Given the description of an element on the screen output the (x, y) to click on. 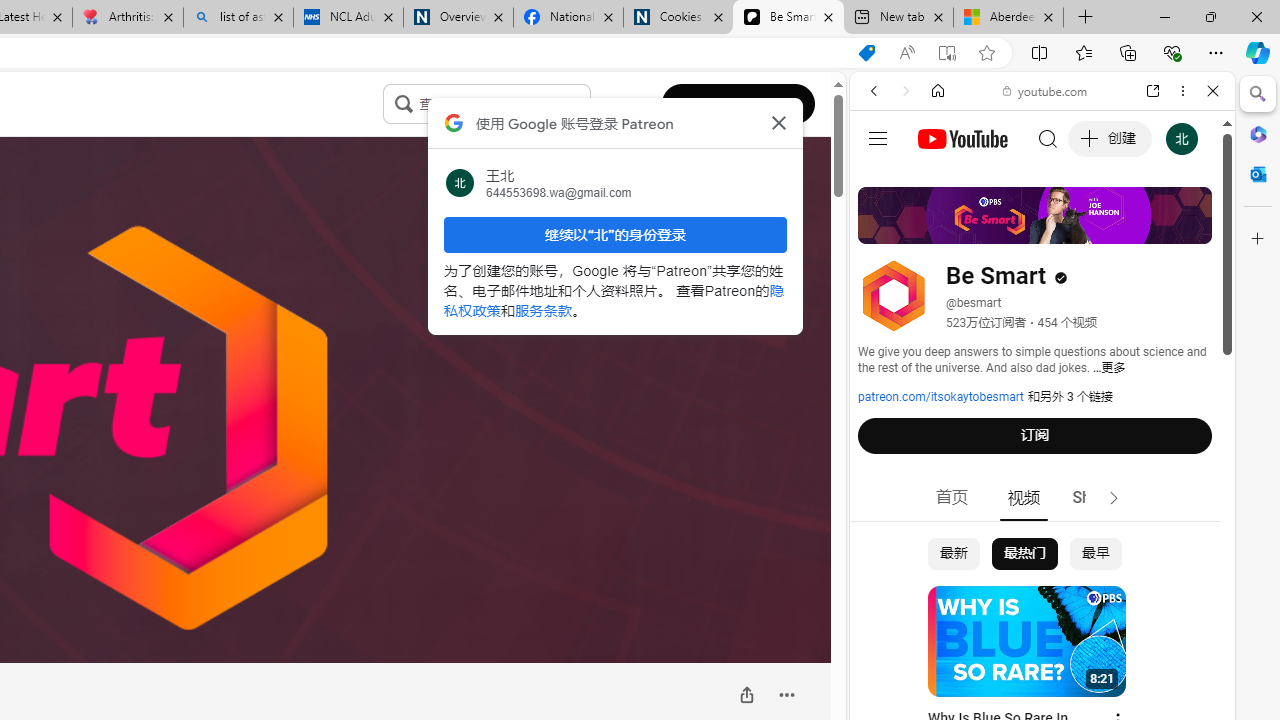
Shopping in Microsoft Edge (867, 53)
Trailer #2 [HD] (1042, 594)
Cookies | About | NICE (678, 17)
AutomationID: right (1113, 497)
Shorts (1096, 497)
Forward (906, 91)
youtube.com (1046, 90)
Web scope (882, 180)
Class: sc-gUQvok bqiJlM (585, 103)
Google (1042, 494)
WEB   (882, 228)
